Given the description of an element on the screen output the (x, y) to click on. 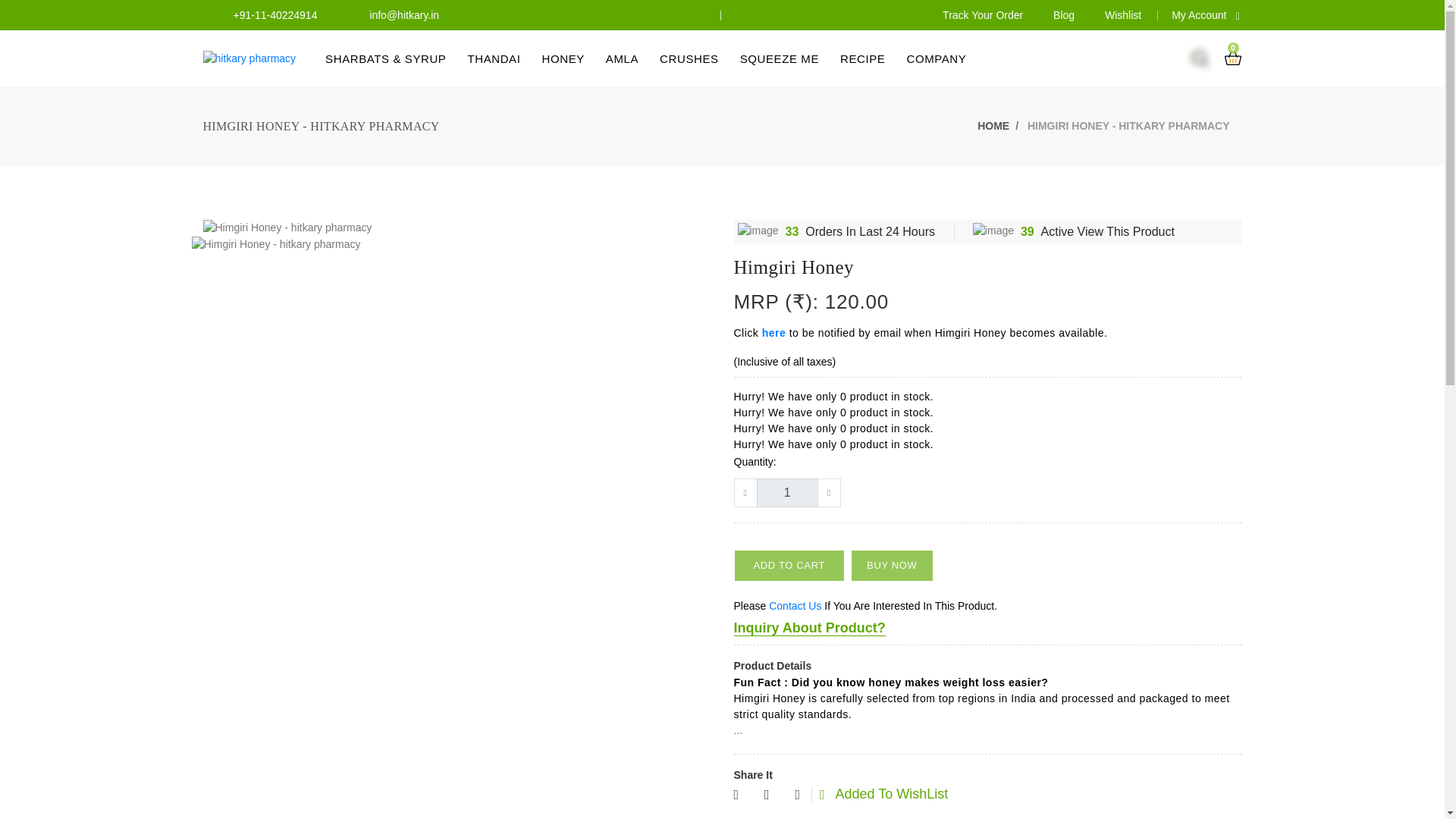
Blog (1063, 15)
Wishlist (1123, 15)
Track Your Order (982, 15)
1 (786, 492)
